Given the description of an element on the screen output the (x, y) to click on. 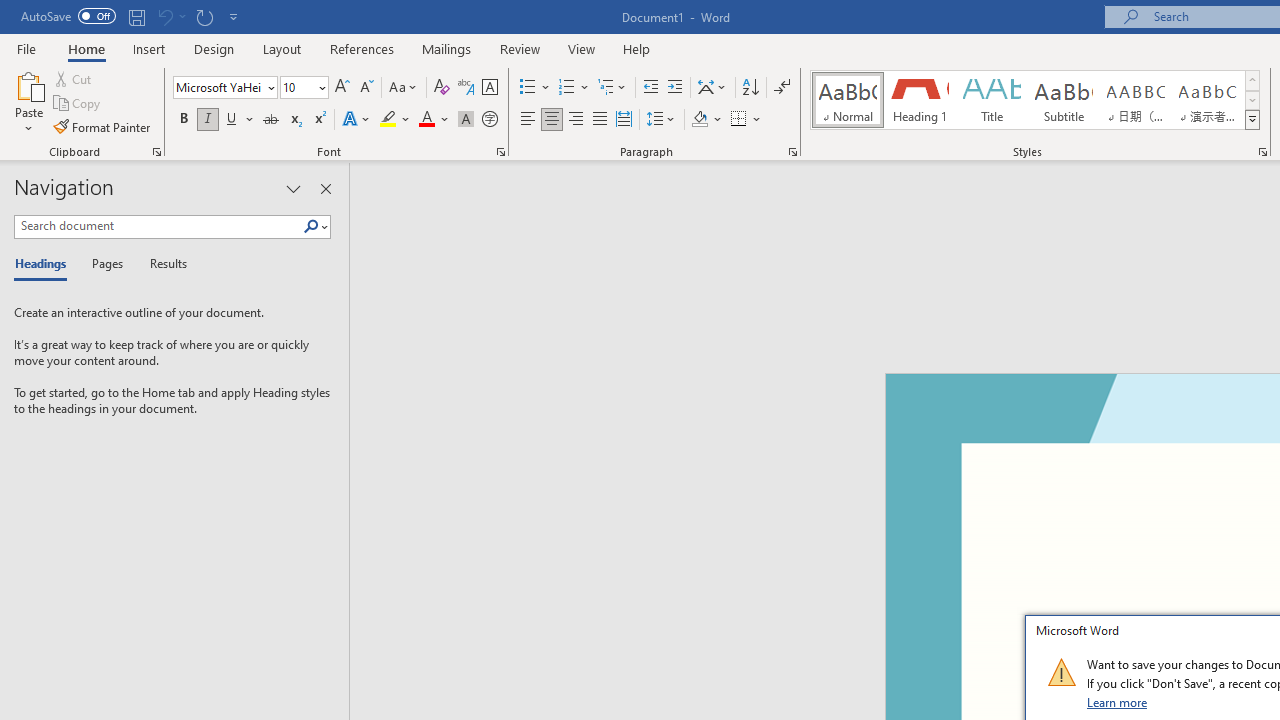
Increase Indent (675, 87)
Headings (45, 264)
Font Color (434, 119)
Copy (78, 103)
Shading RGB(0, 0, 0) (699, 119)
Align Right (575, 119)
Text Highlight Color (395, 119)
Change Case (404, 87)
Text Highlight Color Yellow (388, 119)
Phonetic Guide... (465, 87)
